Given the description of an element on the screen output the (x, y) to click on. 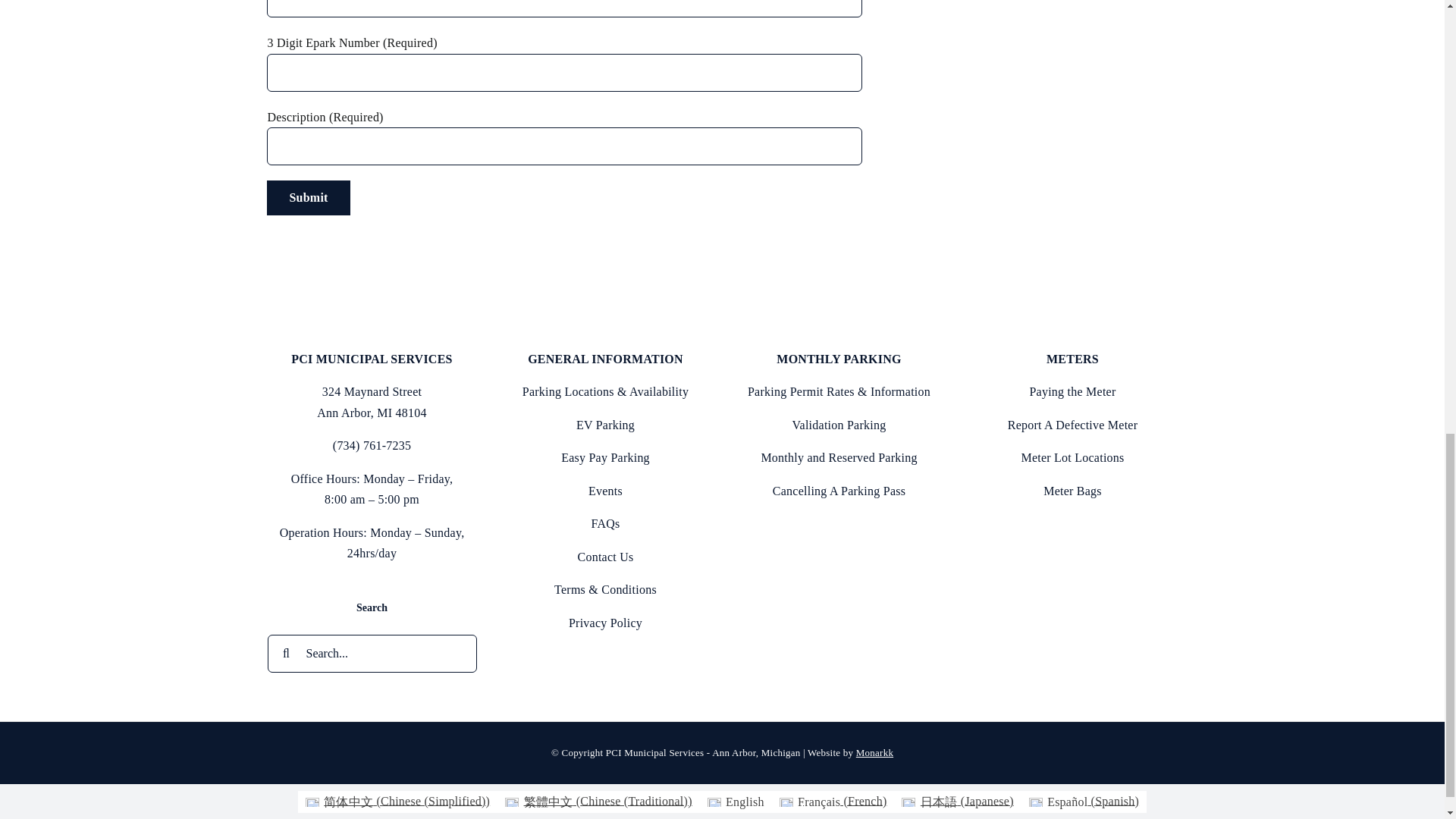
Meter Bags (1072, 490)
Submit (307, 197)
Validation Parking (839, 424)
Privacy Policy (605, 622)
Monthly and Reserved Parking (838, 457)
Paying the Meter (1072, 391)
Monarkk (874, 752)
Meter Lot Locations (1072, 457)
FAQs (605, 522)
Submit (307, 197)
